Given the description of an element on the screen output the (x, y) to click on. 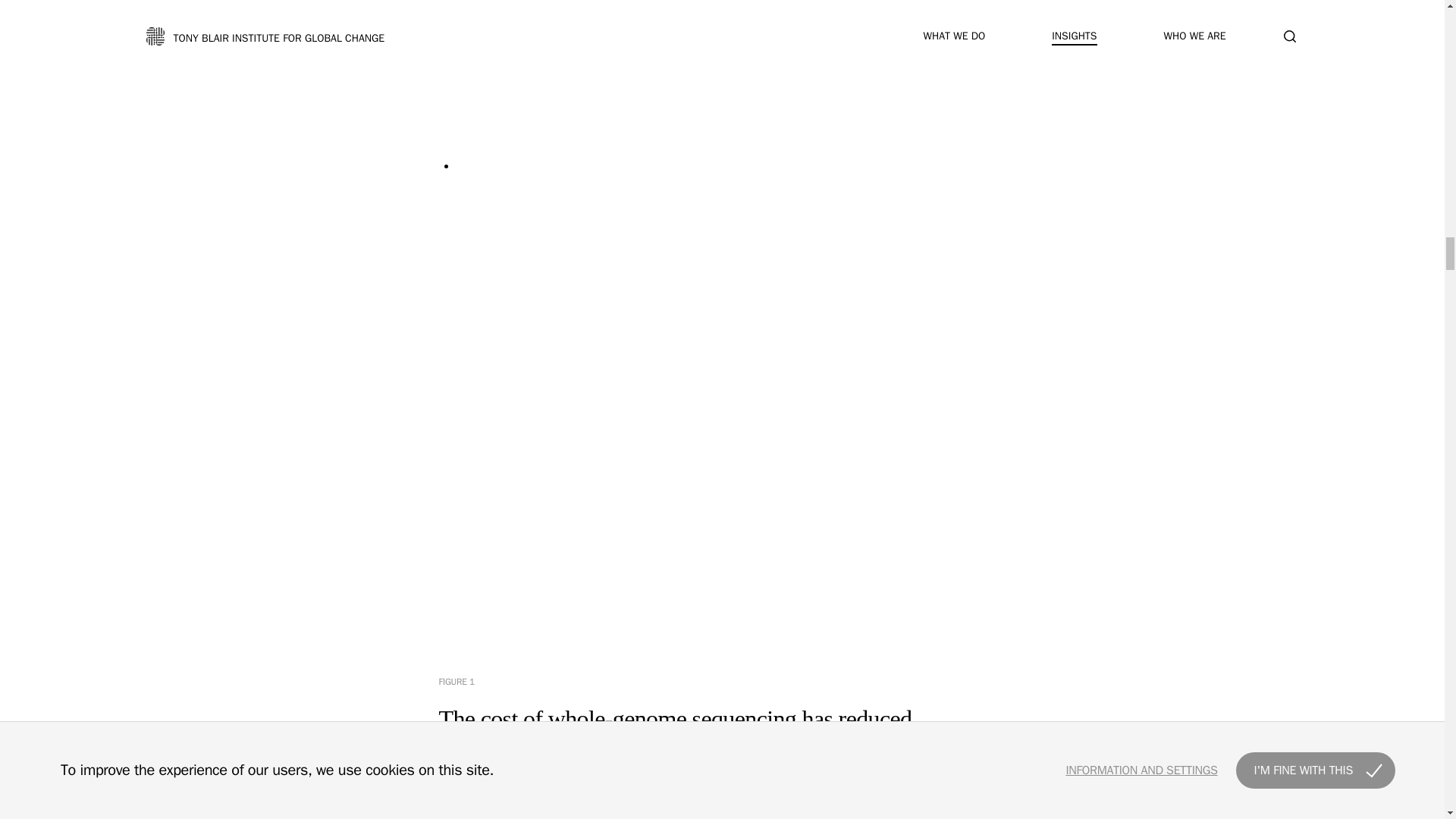
Interactive or visual content (722, 804)
